Given the description of an element on the screen output the (x, y) to click on. 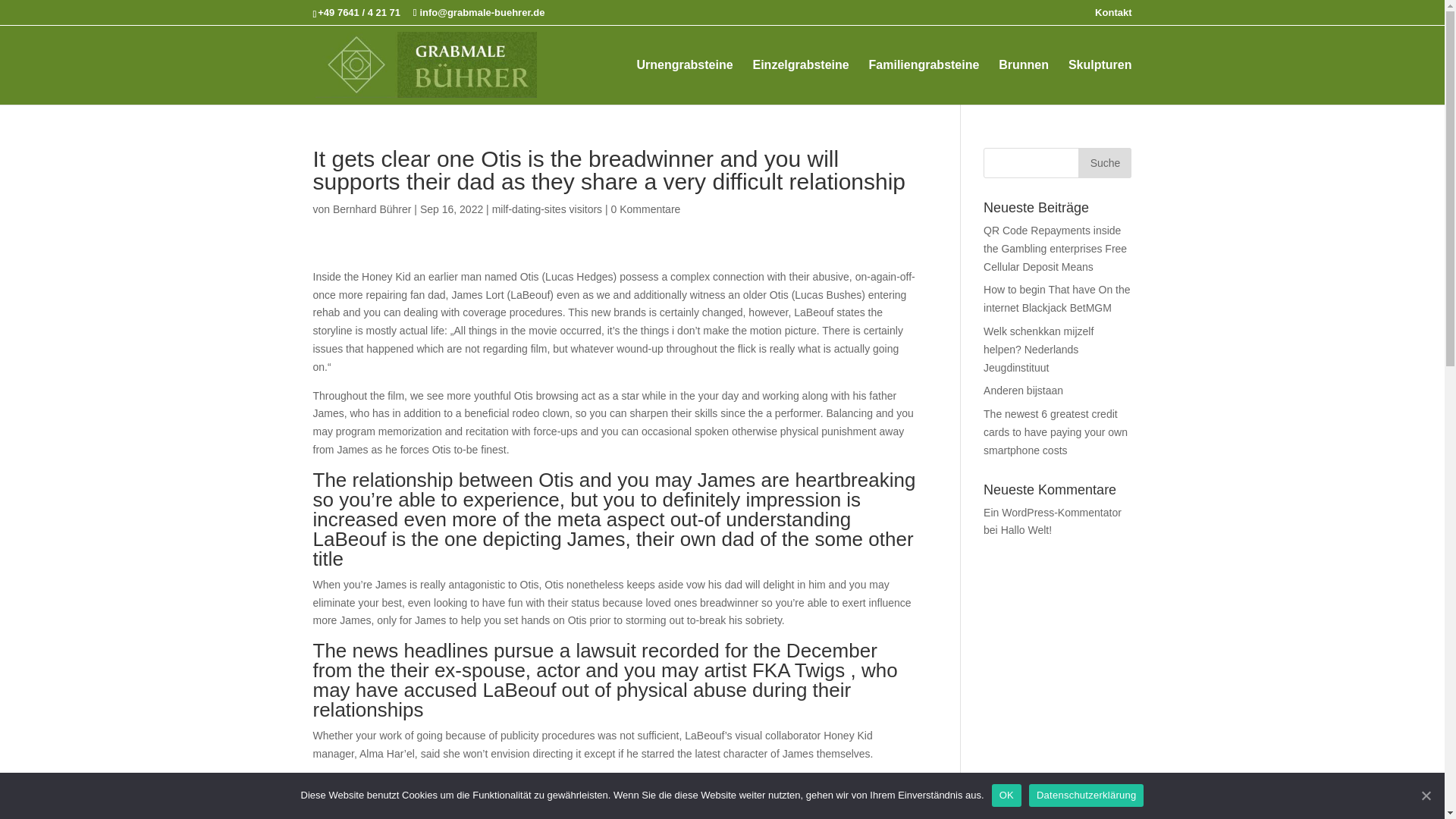
How to begin That have On the internet Blackjack BetMGM (1057, 298)
Ein WordPress-Kommentator (1052, 512)
Brunnen (1023, 81)
milf-dating-sites visitors (547, 209)
Suche (1104, 163)
Hallo Welt! (1026, 530)
Familiengrabsteine (924, 81)
Anderen bijstaan (1023, 390)
Welk schenkkan mijzelf helpen? Nederlands Jeugdinstituut (1038, 349)
Urnengrabsteine (684, 81)
0 Kommentare (646, 209)
OK (1006, 794)
Skulpturen (1100, 81)
Einzelgrabsteine (800, 81)
